Given the description of an element on the screen output the (x, y) to click on. 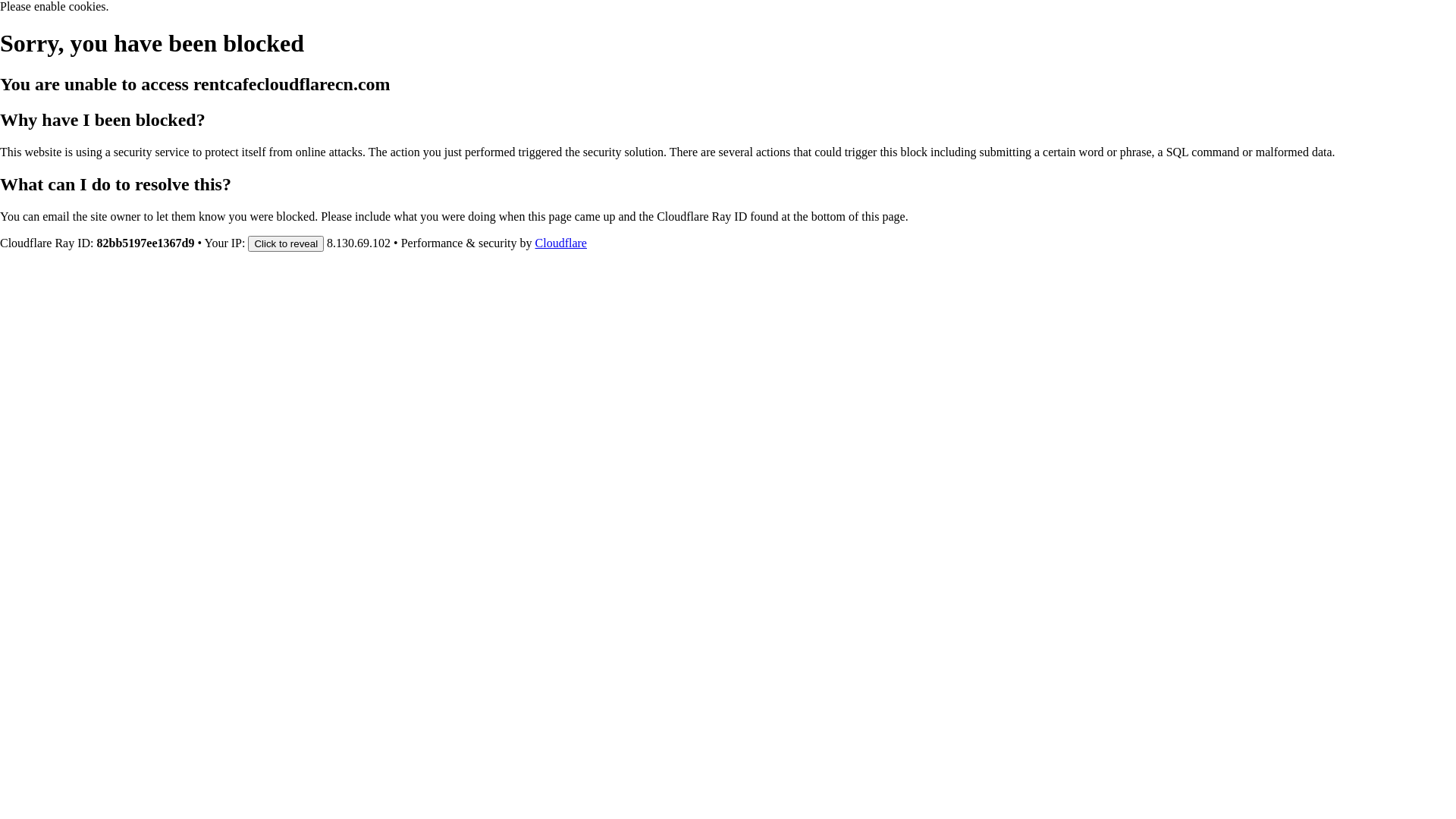
Cloudflare Element type: text (560, 242)
Click to reveal Element type: text (285, 243)
